Given the description of an element on the screen output the (x, y) to click on. 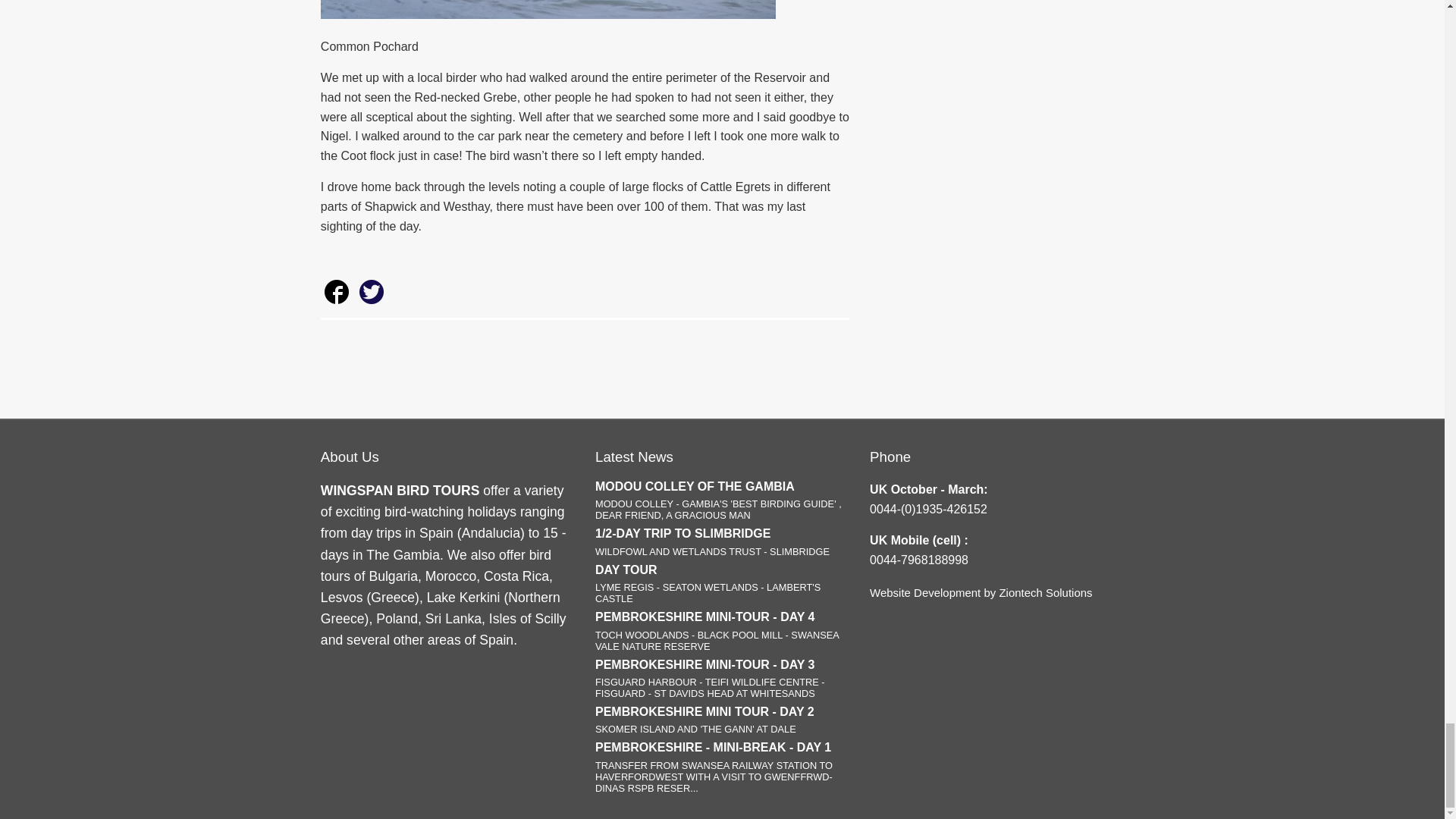
Ziontech Solutions (1045, 592)
Latest News (633, 456)
About Us (349, 456)
